Given the description of an element on the screen output the (x, y) to click on. 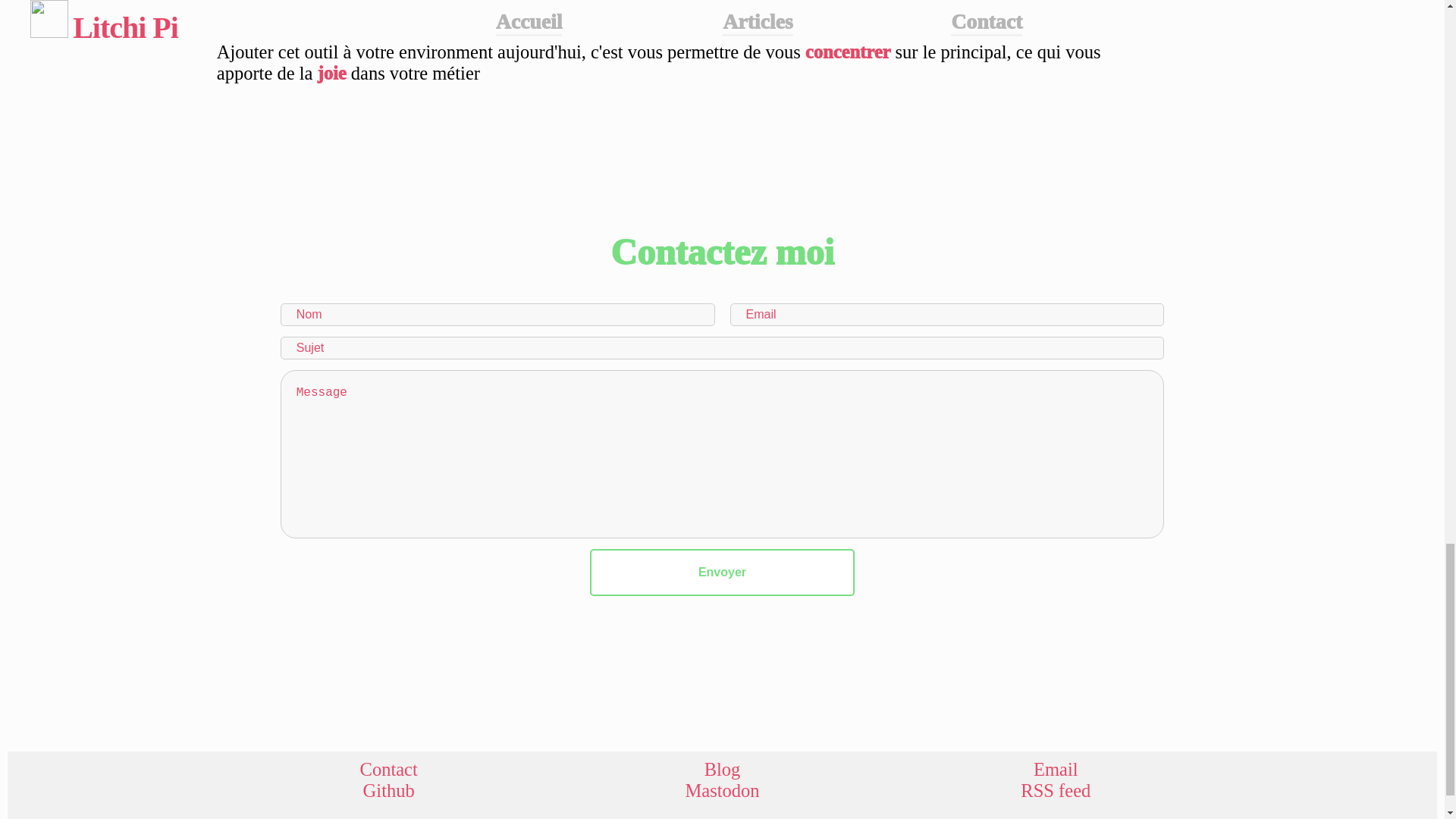
Email (1055, 769)
RSS feed (1055, 790)
Envoyer (722, 572)
Mastodon (722, 790)
Contact (389, 769)
Github (389, 790)
Envoyer (722, 572)
Blog (722, 769)
